Given the description of an element on the screen output the (x, y) to click on. 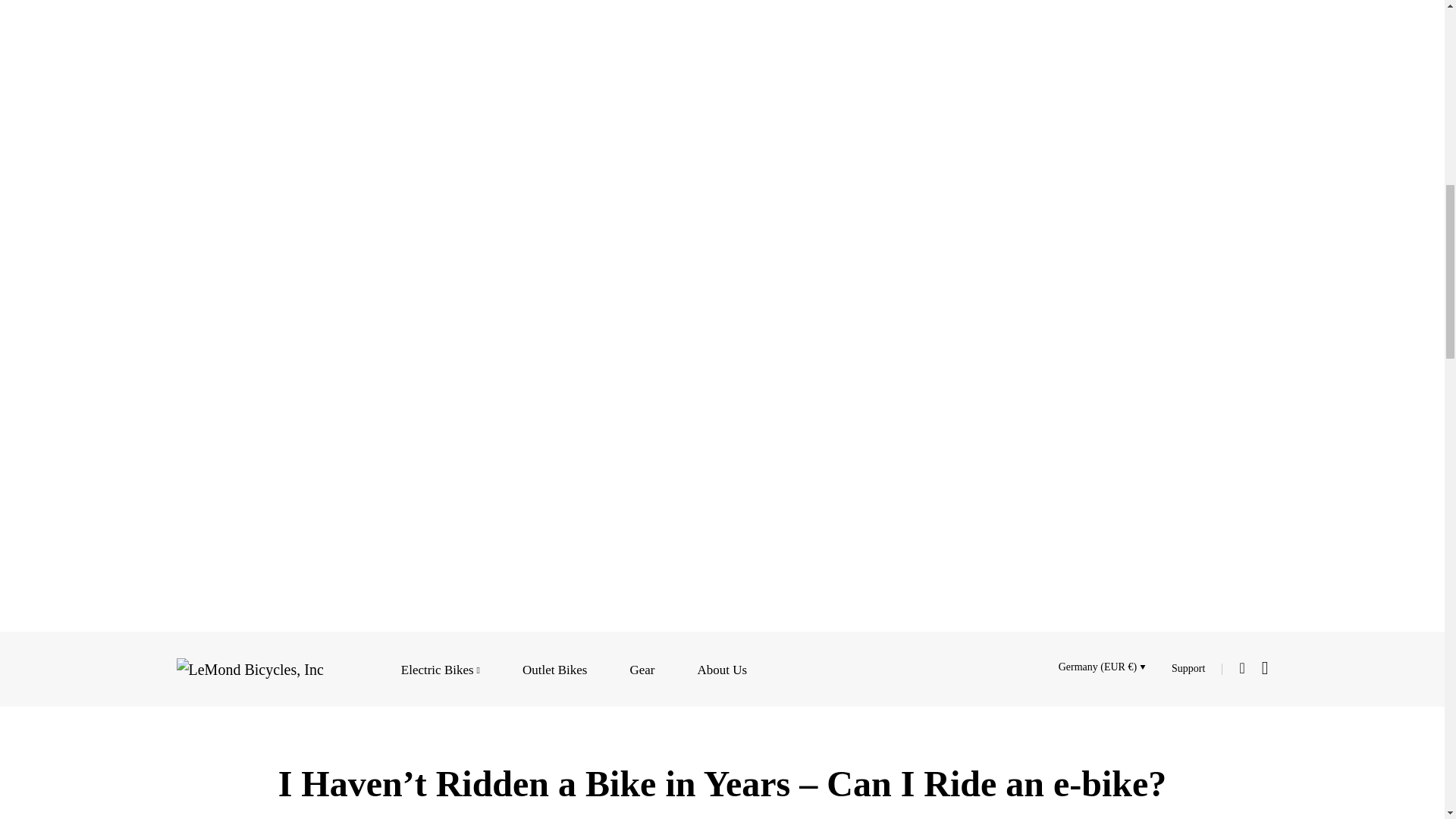
Electric Bikes (440, 667)
Electric Bikes (440, 667)
Outlet Bikes (554, 667)
About Us (722, 667)
About Us (722, 667)
Support (1188, 669)
Outlet Bikes (554, 667)
Support (1188, 669)
LeMond Bicycles, Inc (249, 668)
